Given the description of an element on the screen output the (x, y) to click on. 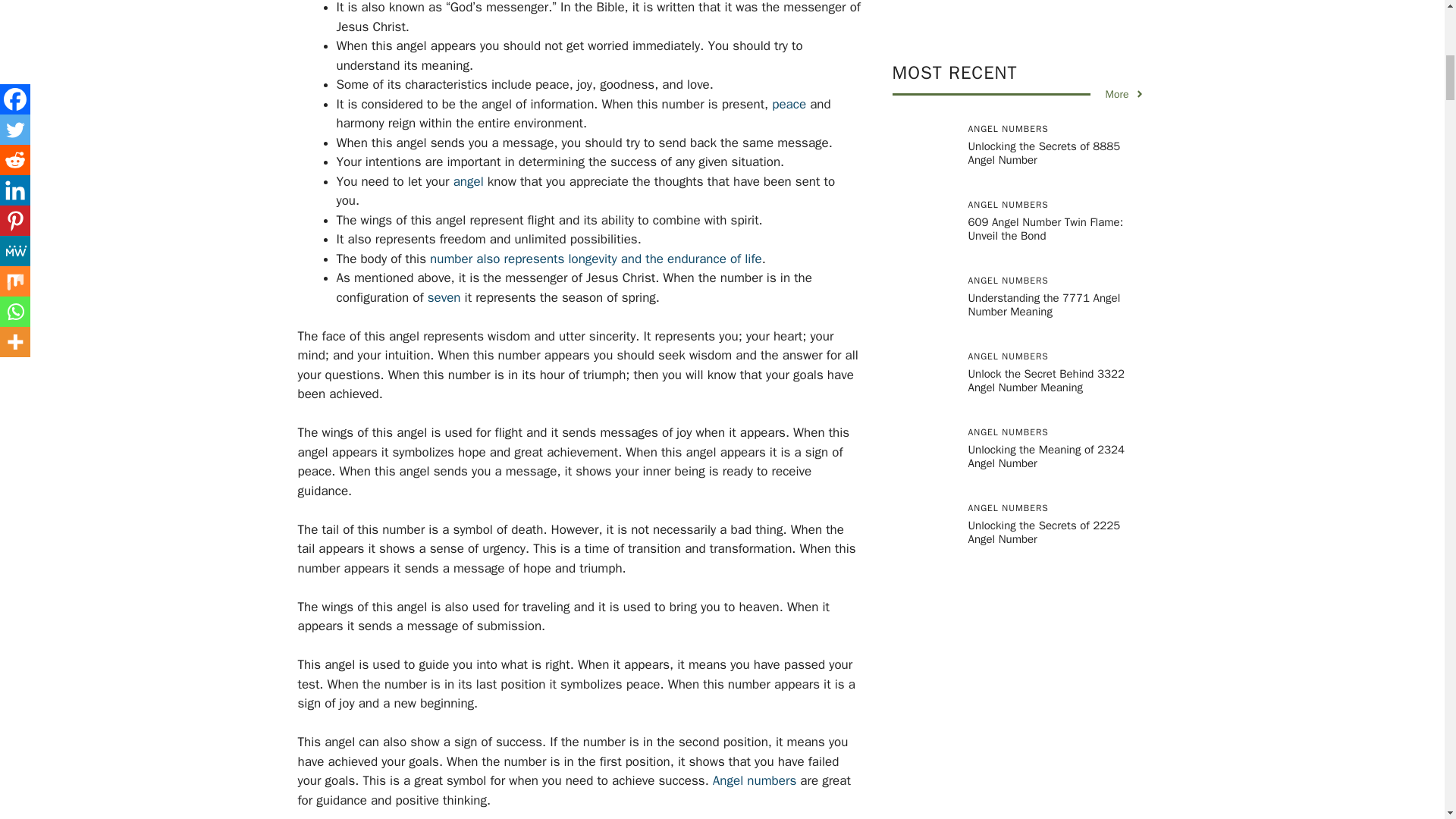
Angel numbers (754, 780)
seven (444, 297)
number also represents longevity and the endurance of life (595, 258)
angel (467, 181)
peace (788, 104)
